Given the description of an element on the screen output the (x, y) to click on. 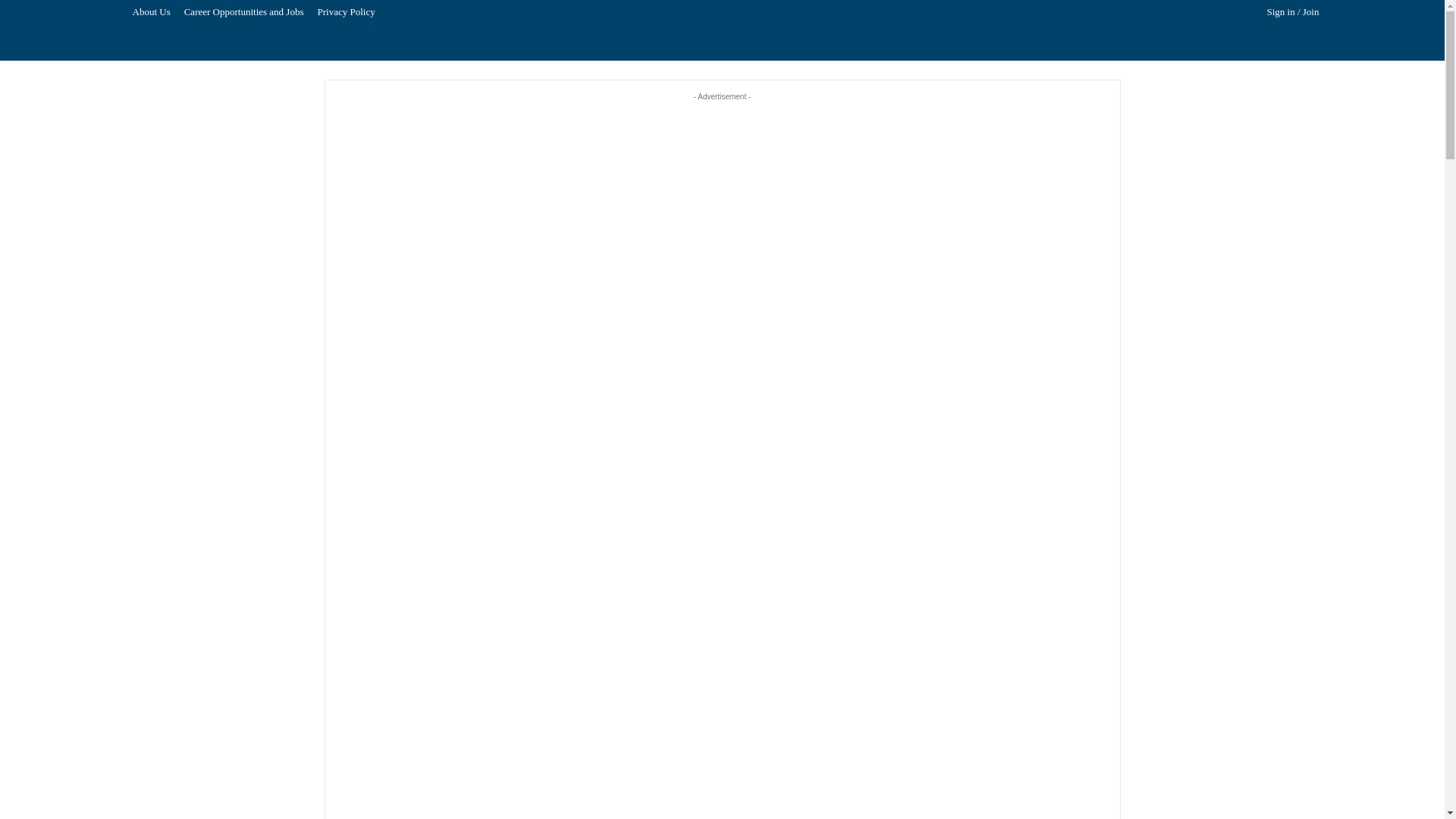
Career Opportunities and Jobs (244, 12)
About Us (151, 12)
Privacy Policy (345, 12)
